Given the description of an element on the screen output the (x, y) to click on. 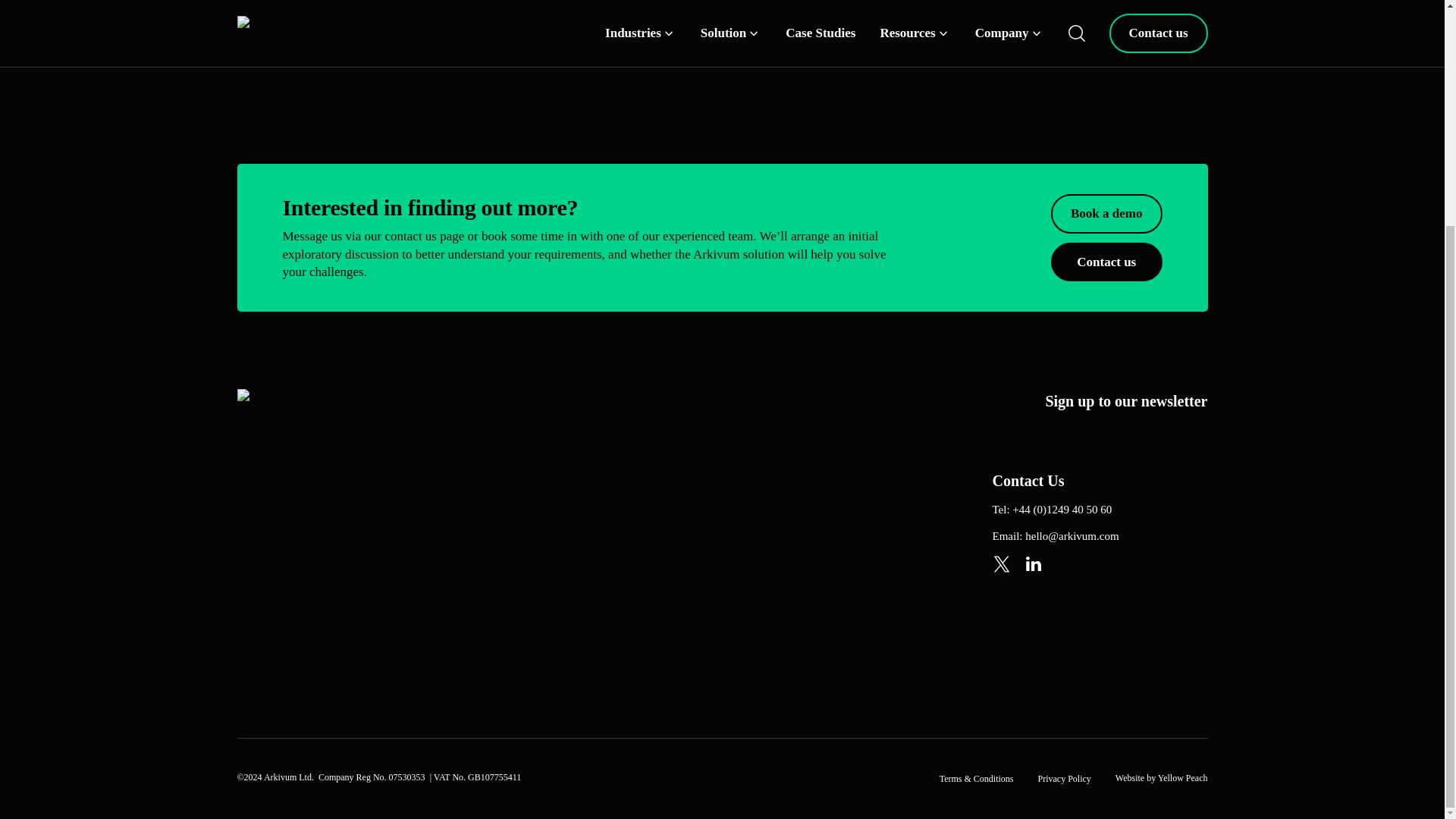
Website design by Yellow Peach (1161, 777)
Contact us (785, 22)
Book a demo (1106, 213)
Return home (666, 22)
Contact us (1106, 261)
Get in touch (785, 22)
Return home (666, 22)
